Given the description of an element on the screen output the (x, y) to click on. 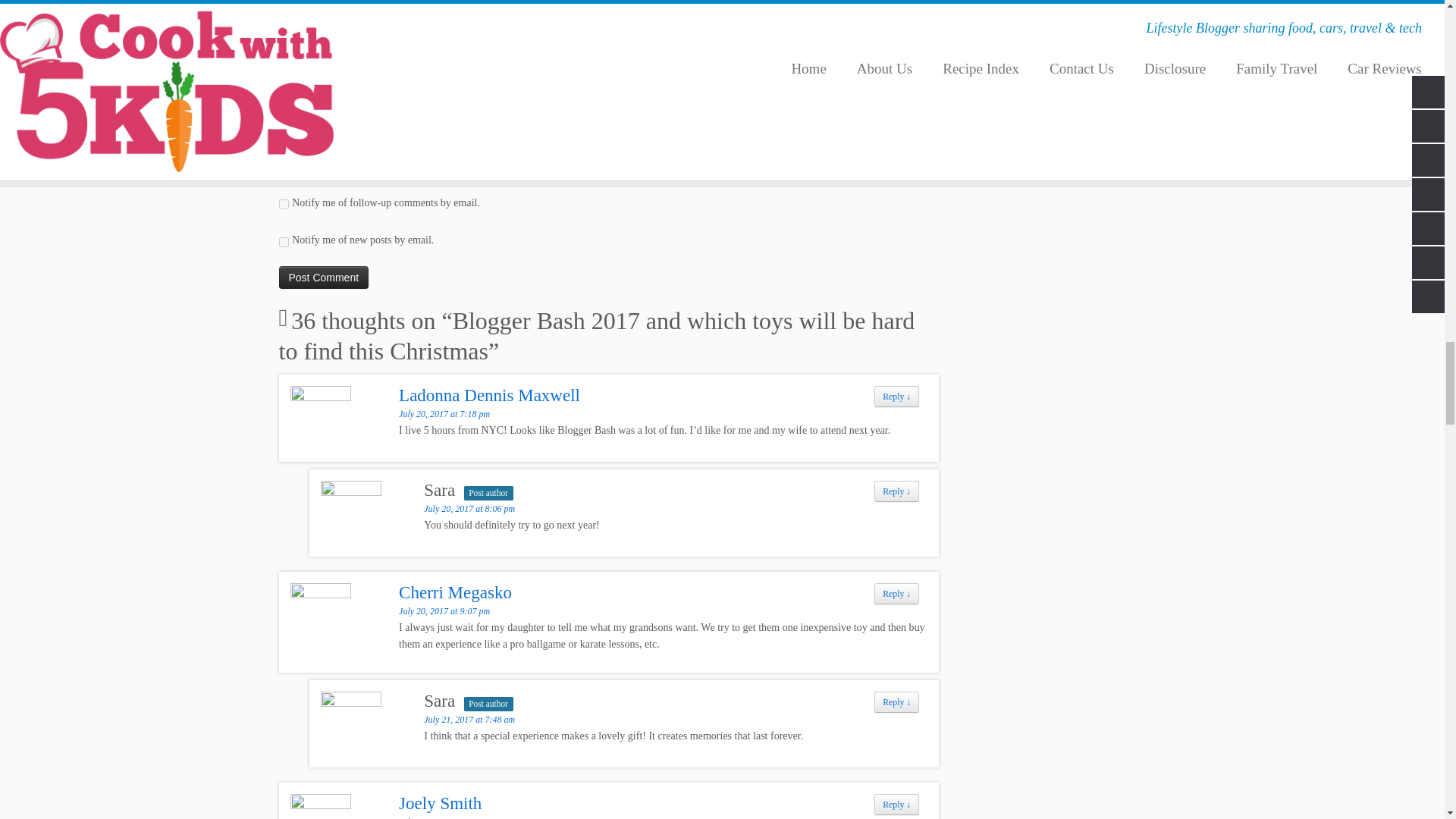
yes (283, 171)
Post Comment (324, 277)
subscribe (283, 204)
subscribe (283, 242)
